Given the description of an element on the screen output the (x, y) to click on. 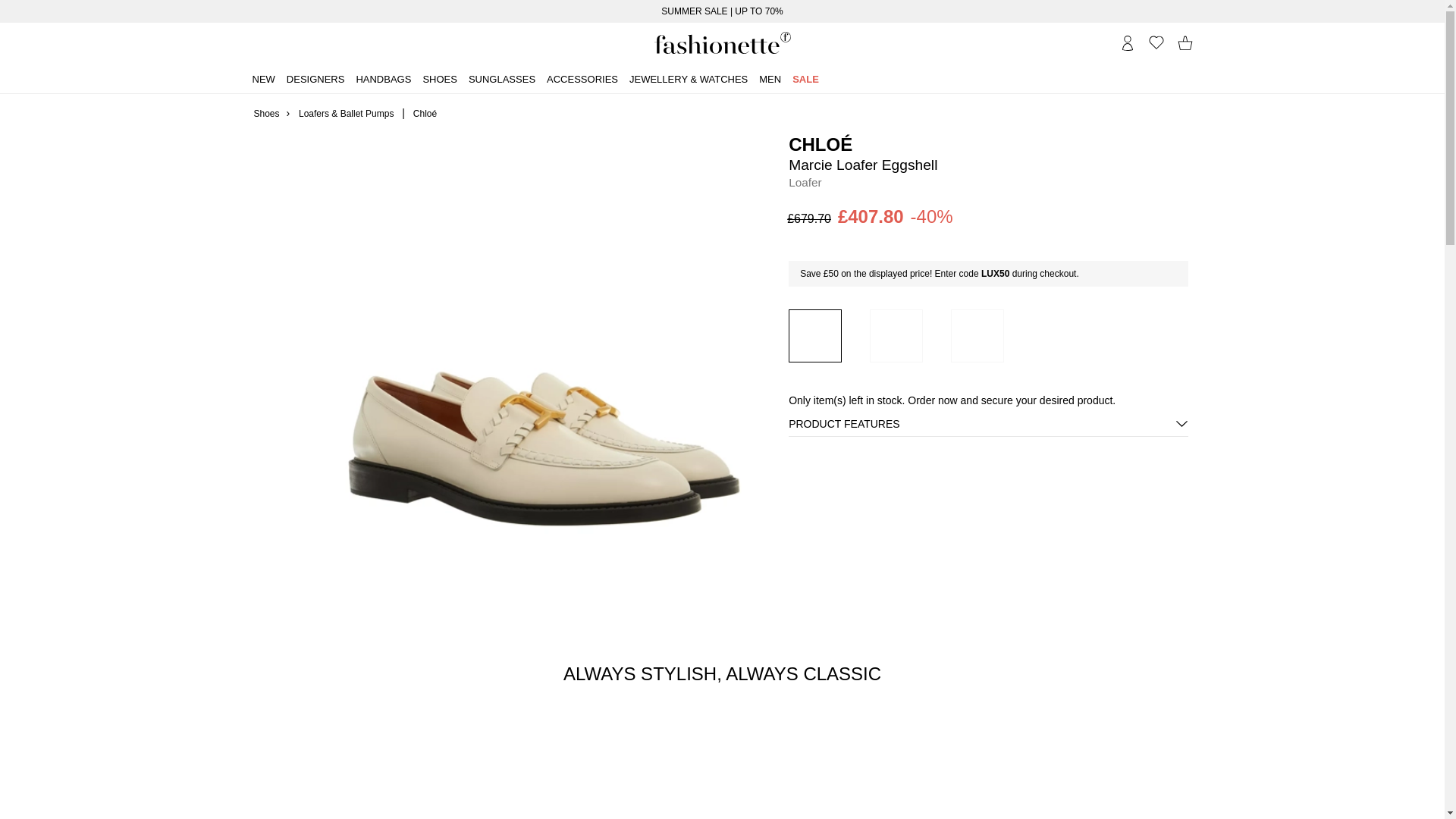
DESIGNERS (315, 78)
NEW (263, 78)
SUNGLASSES (501, 78)
Sunglasses (501, 78)
creme (815, 335)
SALE (805, 78)
fashionette (721, 42)
Shoes (266, 112)
Shoes (439, 78)
Designer Handbags Online (721, 42)
black (977, 335)
red (896, 335)
Login (1126, 43)
Designers (315, 78)
